Given the description of an element on the screen output the (x, y) to click on. 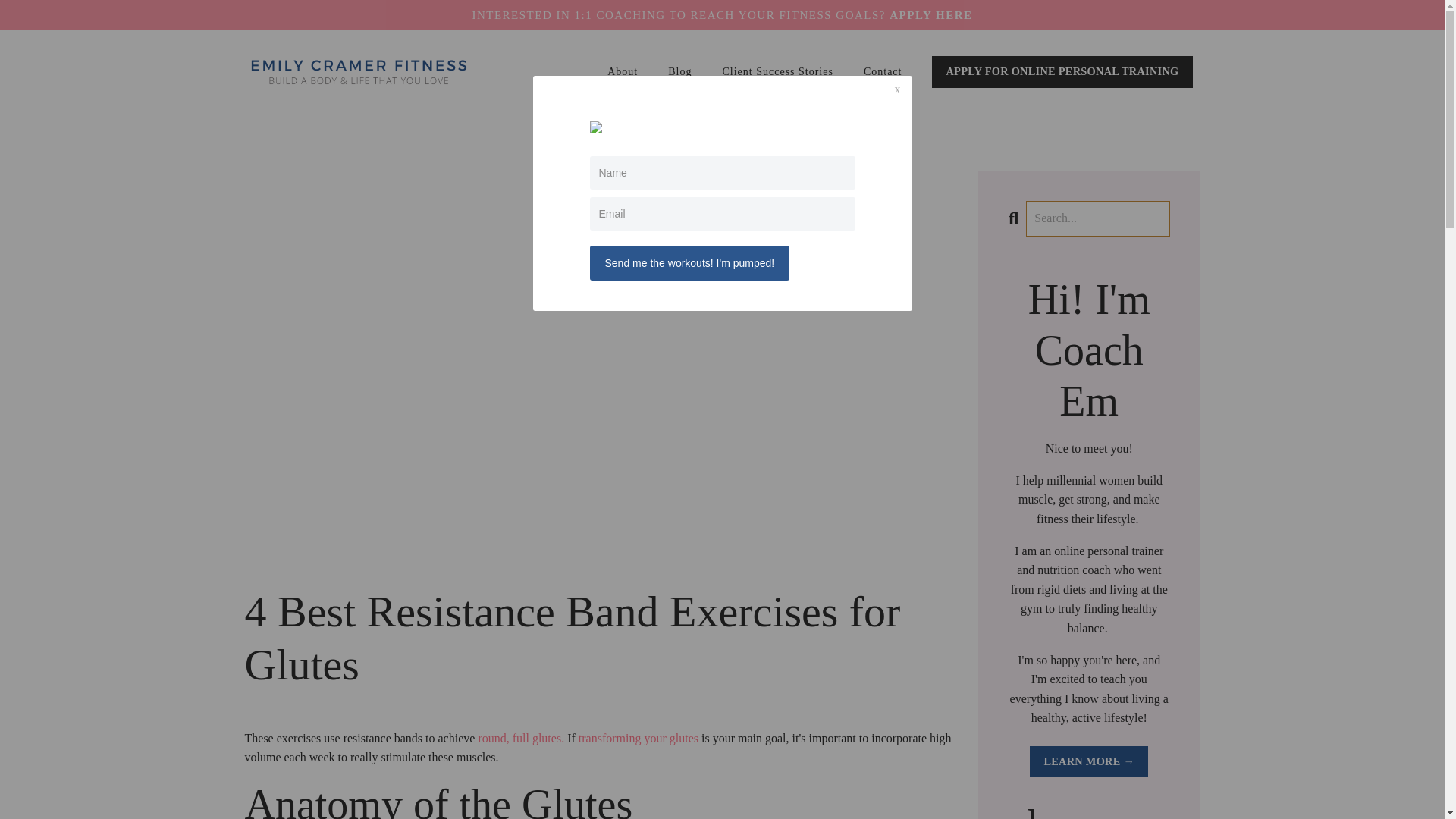
About (622, 71)
Send me the workouts! I'm pumped! (689, 262)
Client Success Stories (777, 71)
Contact (882, 71)
round, full glutes. (520, 738)
APPLY FOR ONLINE PERSONAL TRAINING (1061, 71)
Blog (679, 71)
Better Butt Workout : How to Build Your Best Butt Ever (638, 738)
20 Minute AMRAP Workout for Glutes (520, 738)
transforming your glutes (638, 738)
